Given the description of an element on the screen output the (x, y) to click on. 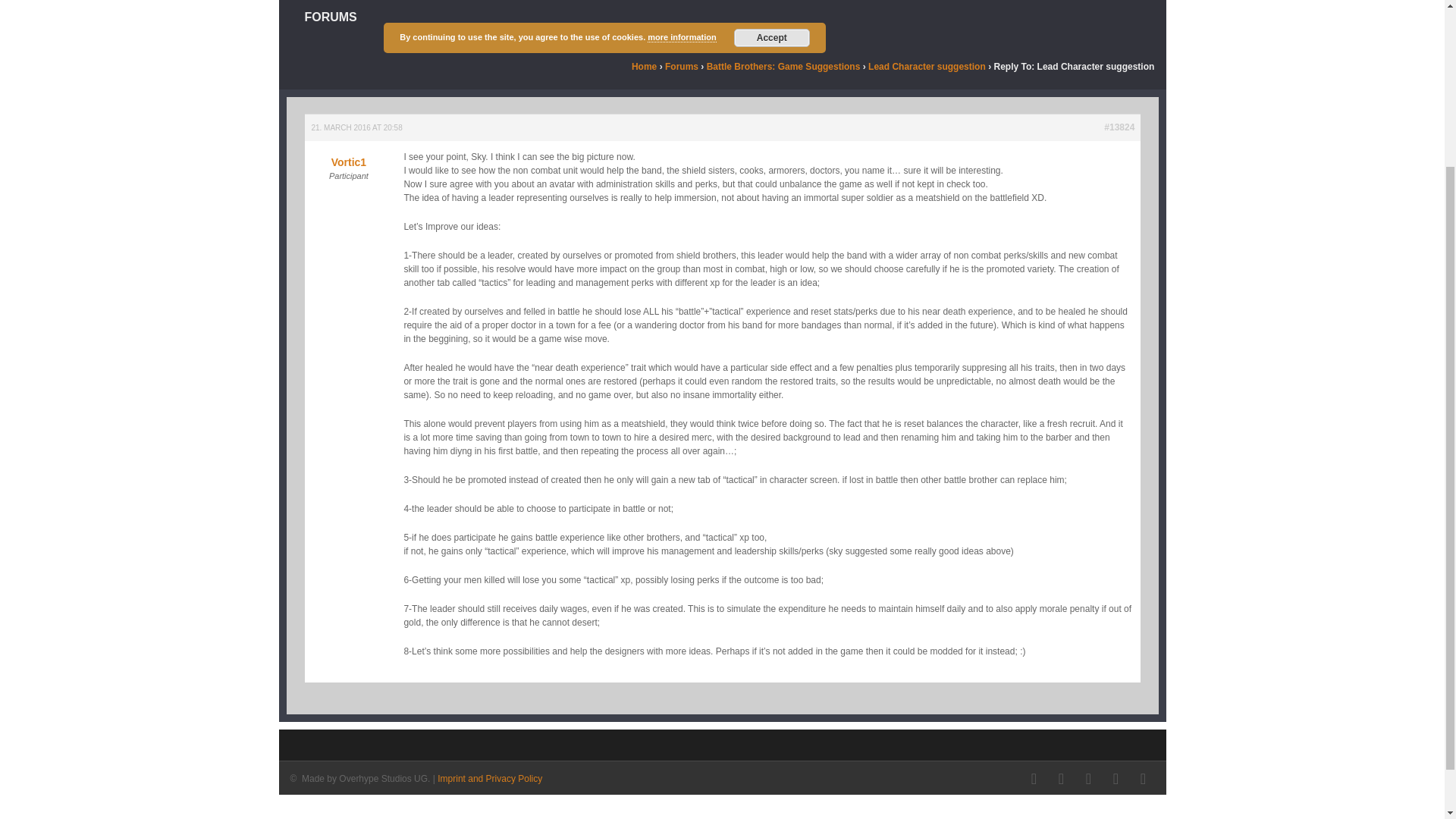
Forums (681, 66)
Imprint and Privacy Policy (489, 778)
Lead Character suggestion (926, 66)
Battle Brothers: Game Suggestions (783, 66)
Vortic1 (347, 155)
Home (643, 66)
View Vortic1's profile (347, 155)
